Given the description of an element on the screen output the (x, y) to click on. 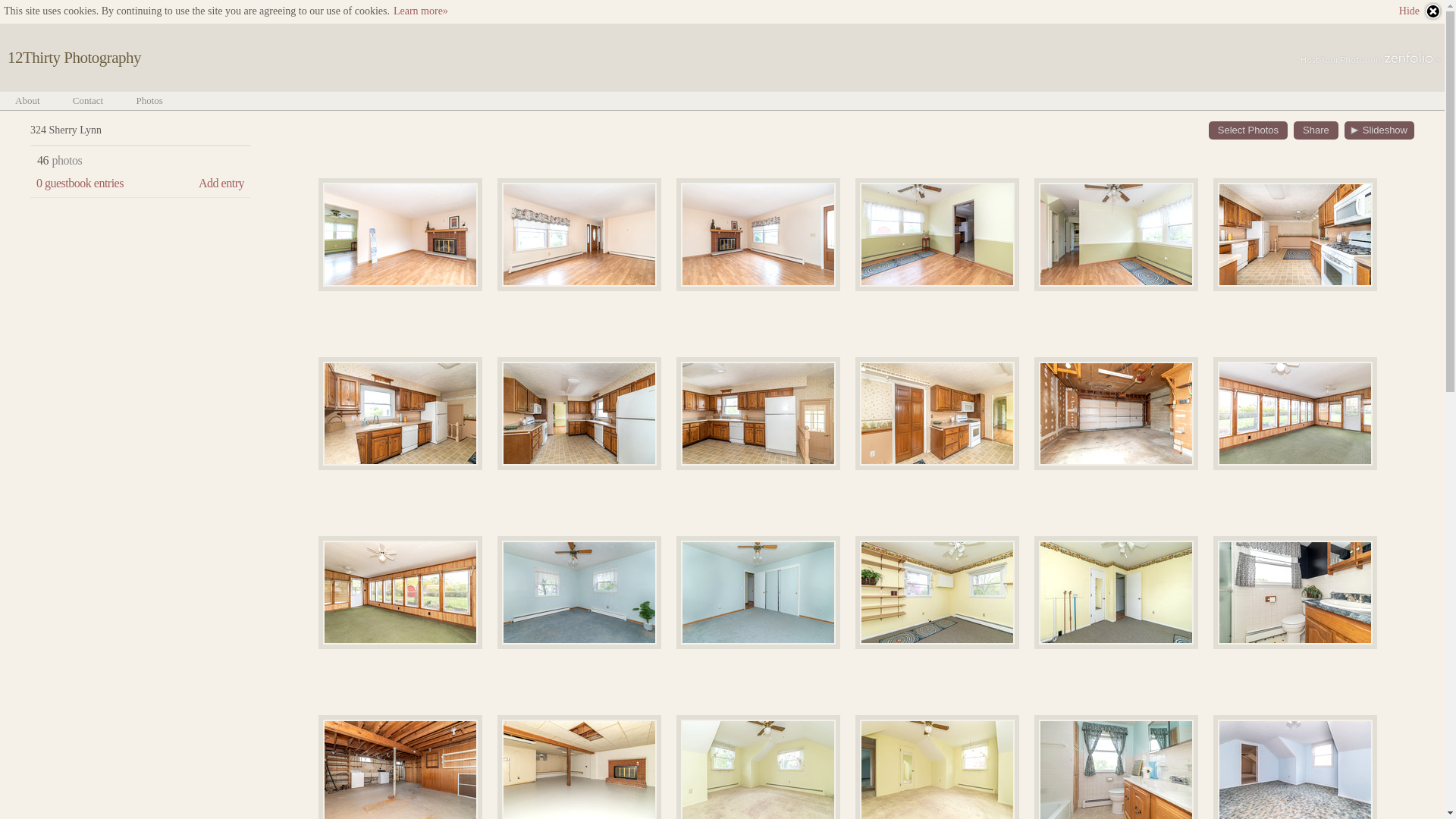
0 guestbook entries Element type: text (79, 183)
Photos Element type: text (148, 100)
About Element type: text (27, 100)
Add entry Element type: text (221, 182)
Hide Element type: text (1420, 11)
Contact Element type: text (87, 100)
Host Your Photos on Zenfolio Element type: hover (1368, 59)
12Thirty Photography Element type: text (74, 57)
